Given the description of an element on the screen output the (x, y) to click on. 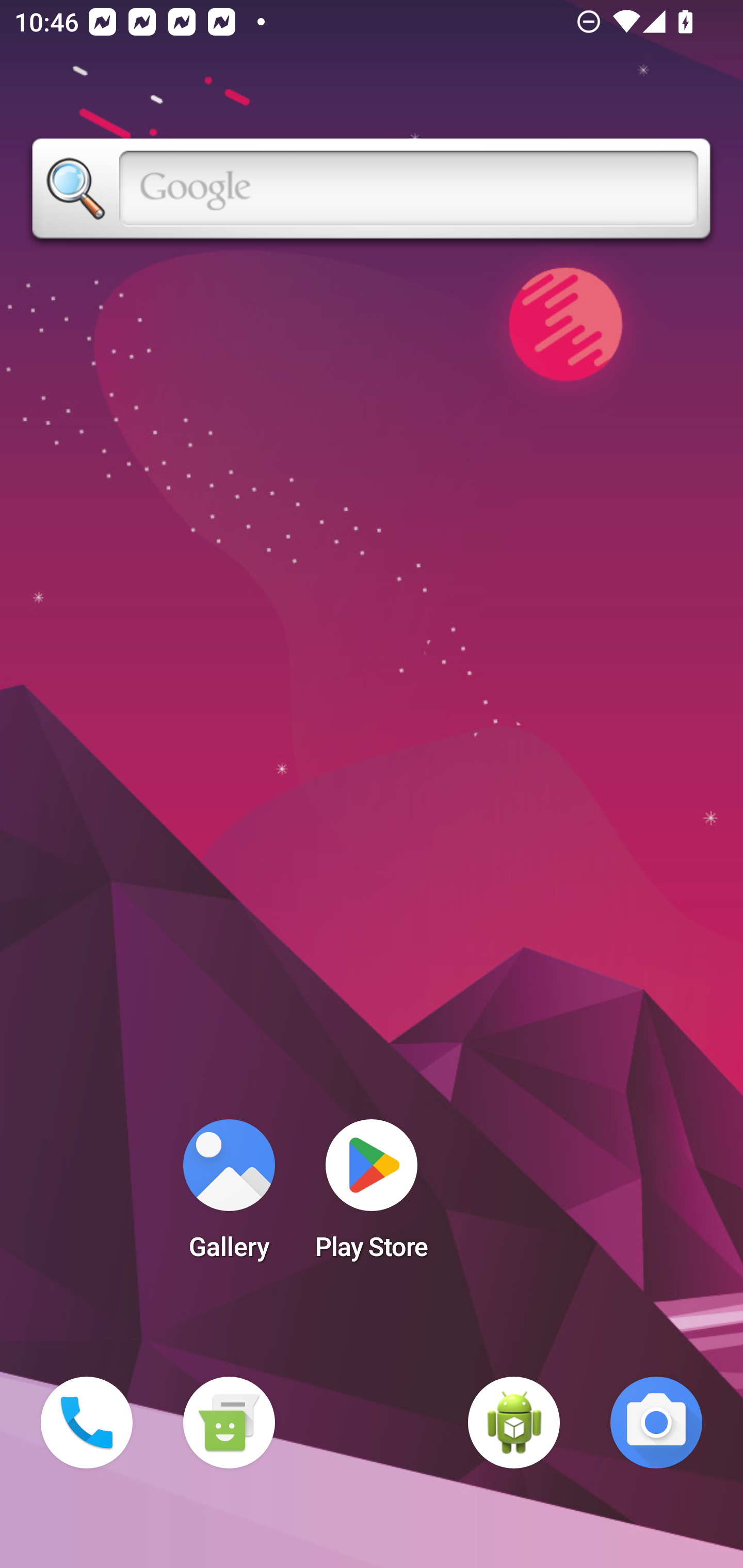
Gallery (228, 1195)
Play Store (371, 1195)
Phone (86, 1422)
Messaging (228, 1422)
WebView Browser Tester (513, 1422)
Camera (656, 1422)
